Given the description of an element on the screen output the (x, y) to click on. 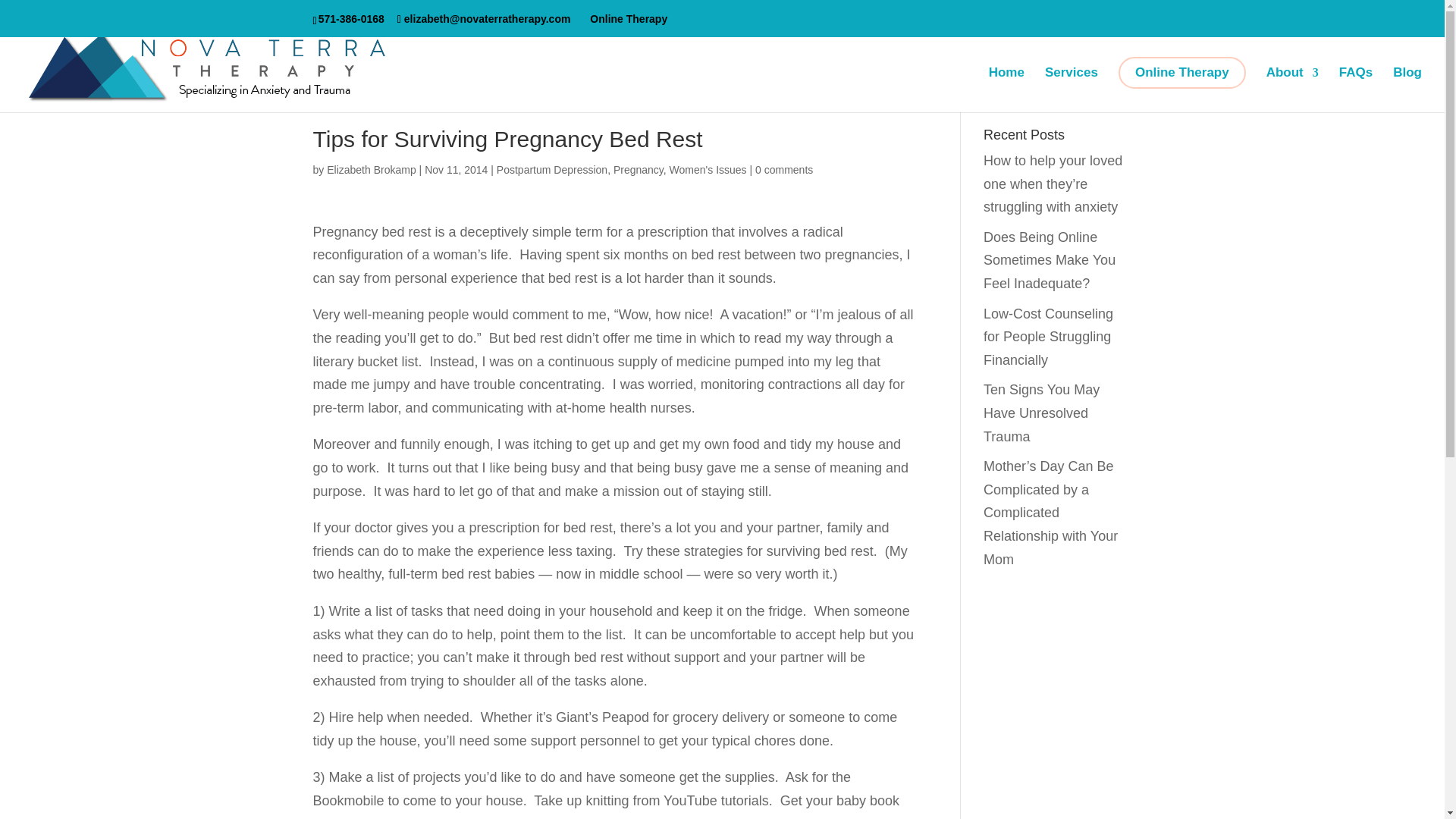
Pregnancy (637, 169)
Ten Signs You May Have Unresolved Trauma (1041, 412)
Postpartum Depression (551, 169)
Elizabeth Brokamp (371, 169)
Online Therapy (1182, 72)
Online Therapy (628, 18)
Posts by Elizabeth Brokamp (371, 169)
About (1292, 89)
Women's Issues (707, 169)
Low-Cost Counseling for People Struggling Financially (1048, 336)
